Given the description of an element on the screen output the (x, y) to click on. 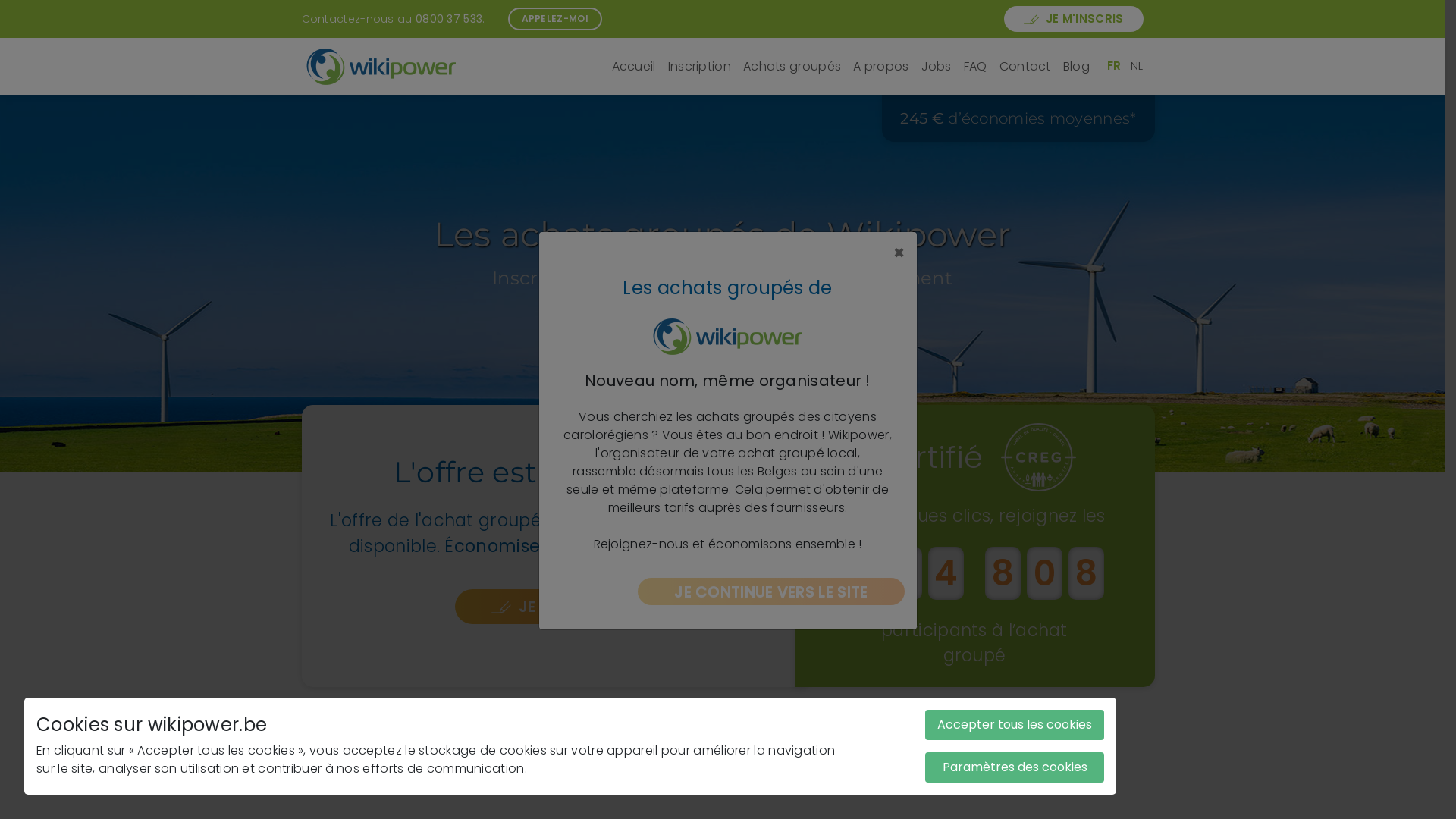
JE CONTINUE VERS LE SITE Element type: text (771, 591)
Contact Element type: text (1025, 66)
JE M'INSCRIS Element type: text (1073, 19)
Accueil Element type: text (633, 66)
FAQ Element type: text (975, 66)
Jobs Element type: text (936, 66)
Inscription Element type: text (699, 66)
Accepter tous les cookies Element type: text (1014, 724)
Blog Element type: text (1076, 66)
NL Element type: text (1136, 65)
JE M'INSCRIS Element type: text (553, 606)
0800 37 533 Element type: text (448, 17)
APPELEZ-MOI Element type: text (555, 18)
